Given the description of an element on the screen output the (x, y) to click on. 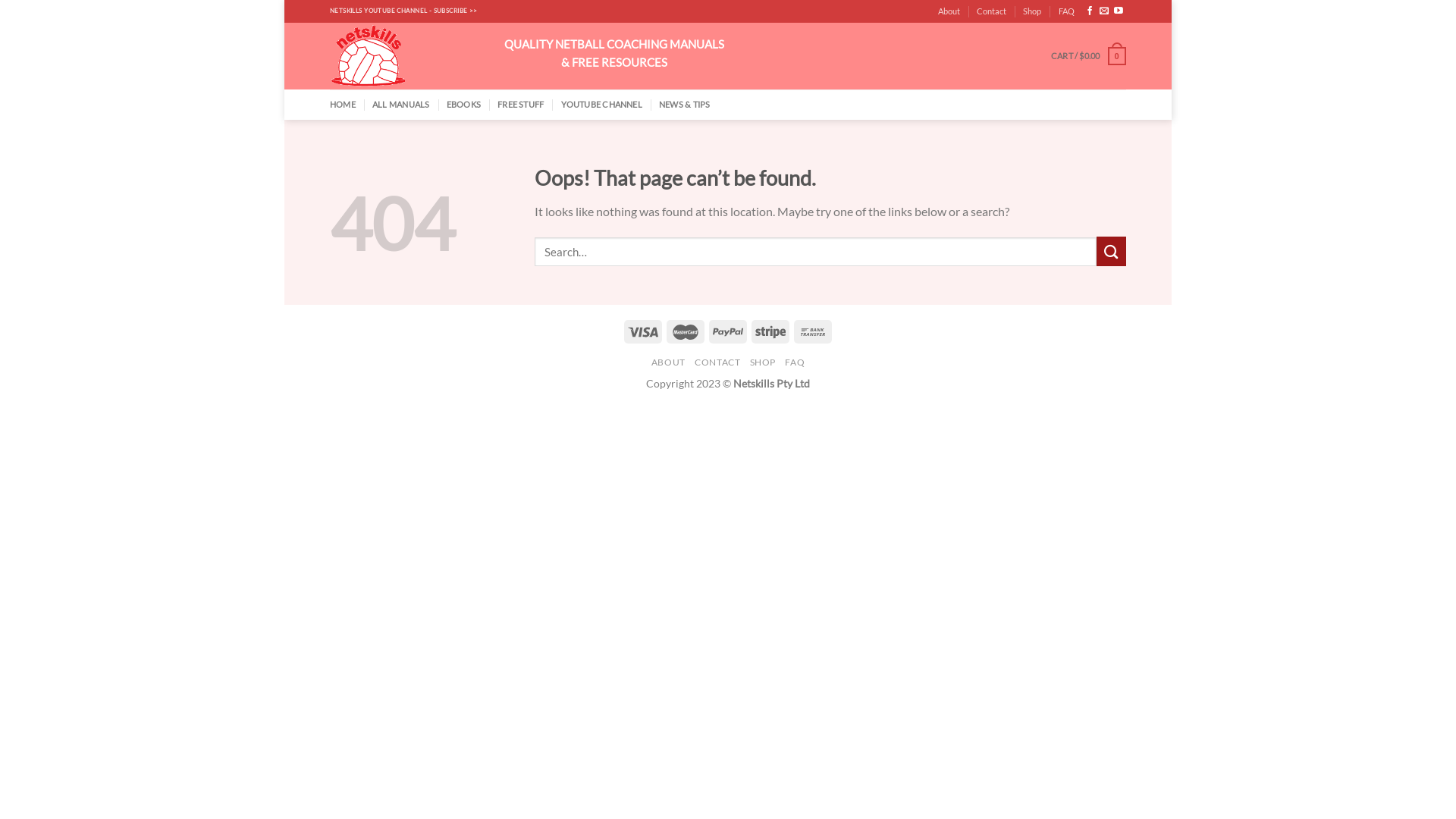
EBOOKS Element type: text (463, 104)
Shop Element type: text (1031, 10)
About Element type: text (949, 10)
ALL MANUALS Element type: text (400, 104)
Netskills - Netball Coaching Resources Element type: hover (405, 55)
FREE STUFF Element type: text (520, 104)
FAQ Element type: text (794, 361)
NETSKILLS YOUTUBE CHANNEL - SUBSCRIBE >> Element type: text (403, 10)
HOME Element type: text (342, 104)
CONTACT Element type: text (717, 361)
ABOUT Element type: text (668, 361)
YOUTUBE CHANNEL Element type: text (601, 104)
FAQ Element type: text (1066, 10)
CART / $0.00
0 Element type: text (1088, 55)
NEWS & TIPS Element type: text (683, 104)
Contact Element type: text (991, 10)
SHOP Element type: text (762, 361)
